Given the description of an element on the screen output the (x, y) to click on. 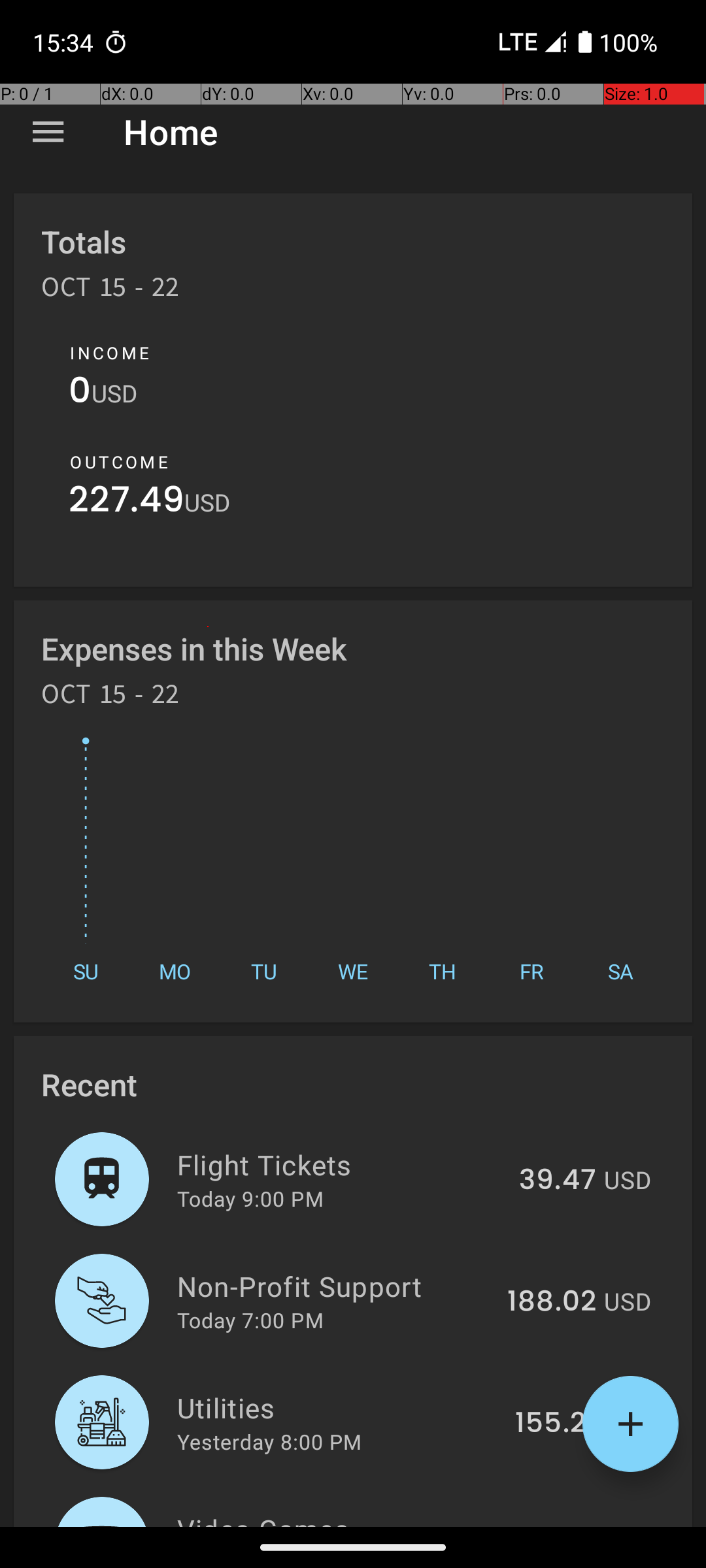
227.49 Element type: android.widget.TextView (126, 502)
Flight Tickets Element type: android.widget.TextView (340, 1164)
Today 9:00 PM Element type: android.widget.TextView (250, 1198)
39.47 Element type: android.widget.TextView (557, 1180)
Non-Profit Support Element type: android.widget.TextView (334, 1285)
188.02 Element type: android.widget.TextView (551, 1301)
Utilities Element type: android.widget.TextView (338, 1407)
Yesterday 8:00 PM Element type: android.widget.TextView (269, 1441)
155.21 Element type: android.widget.TextView (555, 1423)
Video Games Element type: android.widget.TextView (332, 1518)
244.27 Element type: android.widget.TextView (549, 1524)
